Given the description of an element on the screen output the (x, y) to click on. 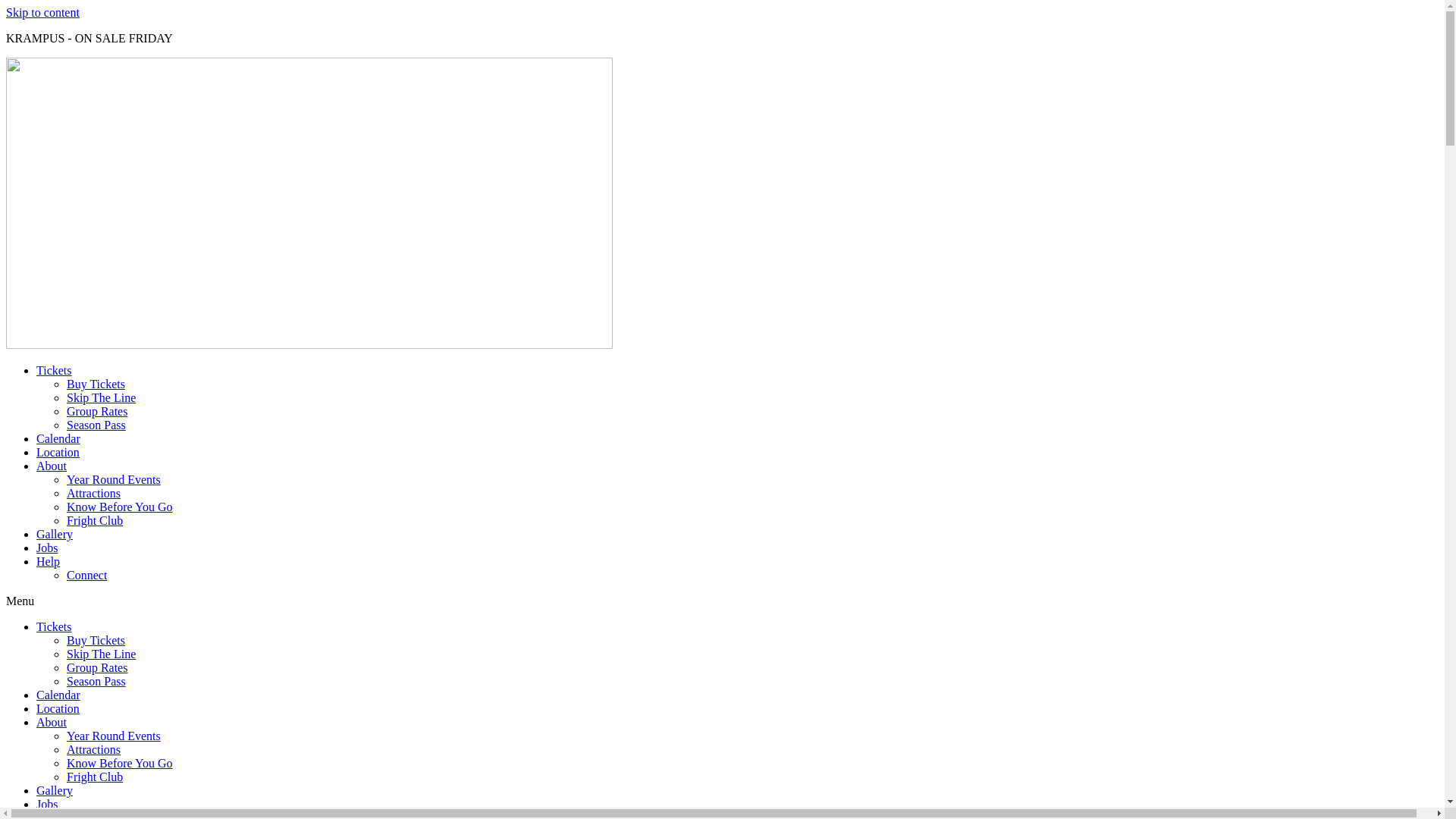
Season Pass Element type: text (95, 424)
Group Rates Element type: text (96, 410)
Help Element type: text (47, 561)
Tickets Element type: text (54, 626)
Calendar Element type: text (58, 438)
Group Rates Element type: text (96, 667)
Season Pass Element type: text (95, 680)
Tickets Element type: text (54, 370)
Location Element type: text (57, 708)
Buy Tickets Element type: text (95, 383)
Year Round Events Element type: text (113, 479)
Jobs Element type: text (46, 547)
About Element type: text (51, 465)
Gallery Element type: text (54, 533)
Skip to content Element type: text (42, 12)
Attractions Element type: text (93, 749)
Location Element type: text (57, 451)
Calendar Element type: text (58, 694)
Year Round Events Element type: text (113, 735)
Buy Tickets Element type: text (95, 639)
Skip The Line Element type: text (100, 653)
Connect Element type: text (86, 574)
Skip The Line Element type: text (100, 397)
Jobs Element type: text (46, 803)
Know Before You Go Element type: text (119, 762)
Gallery Element type: text (54, 790)
Know Before You Go Element type: text (119, 506)
Attractions Element type: text (93, 492)
Fright Club Element type: text (94, 520)
About Element type: text (51, 721)
Fright Club Element type: text (94, 776)
